Given the description of an element on the screen output the (x, y) to click on. 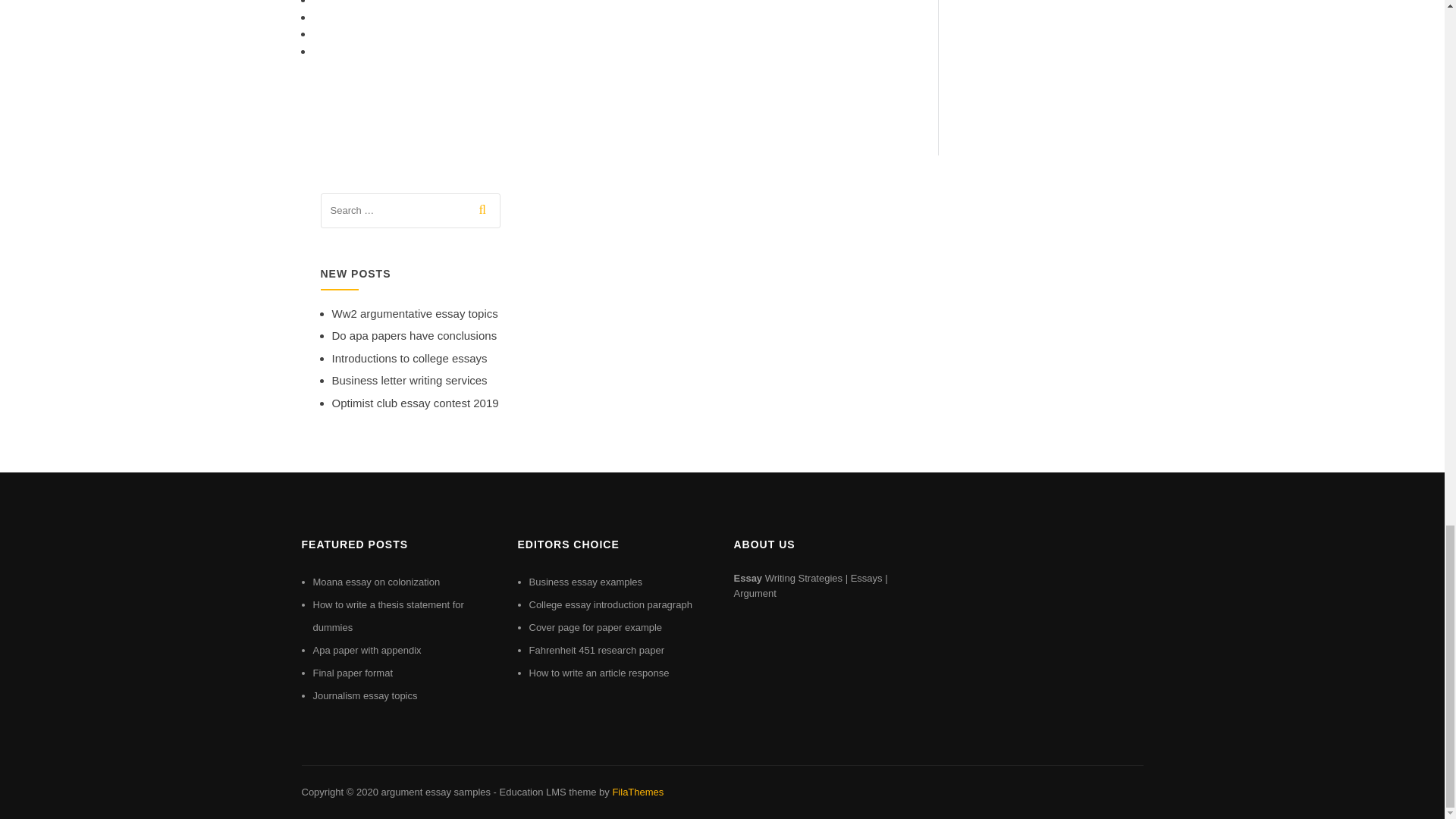
College essay introduction paragraph (611, 604)
Fahrenheit 451 research paper (597, 650)
How to write an article response (599, 672)
argument essay samples (435, 791)
Do apa papers have conclusions (414, 335)
Apa paper with appendix (366, 650)
Final paper format (353, 672)
Business essay examples (586, 582)
Ww2 argumentative essay topics (414, 313)
argument essay samples (435, 791)
